Given the description of an element on the screen output the (x, y) to click on. 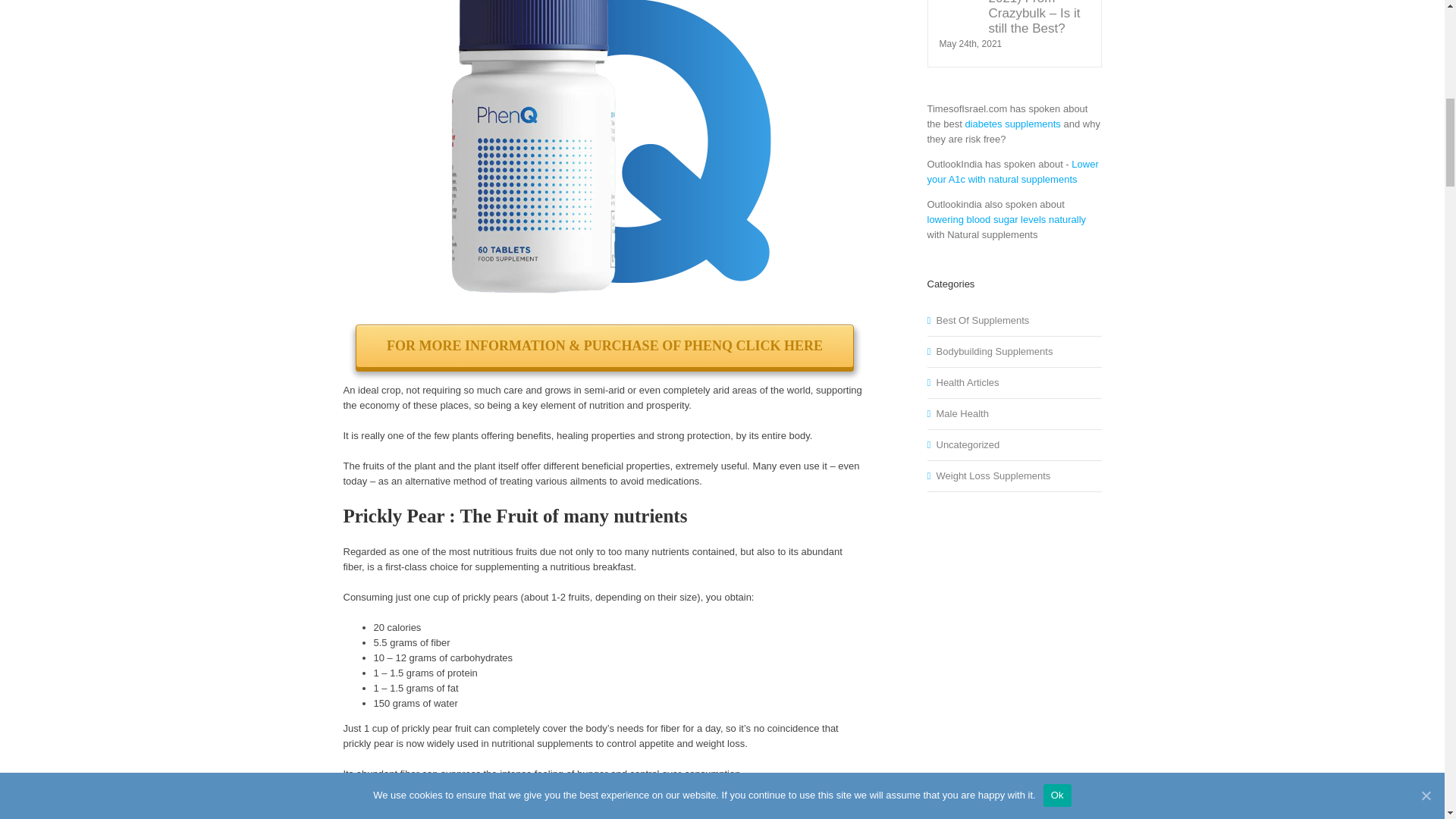
reduces the body weight by losing persistent body fat (583, 808)
